Given the description of an element on the screen output the (x, y) to click on. 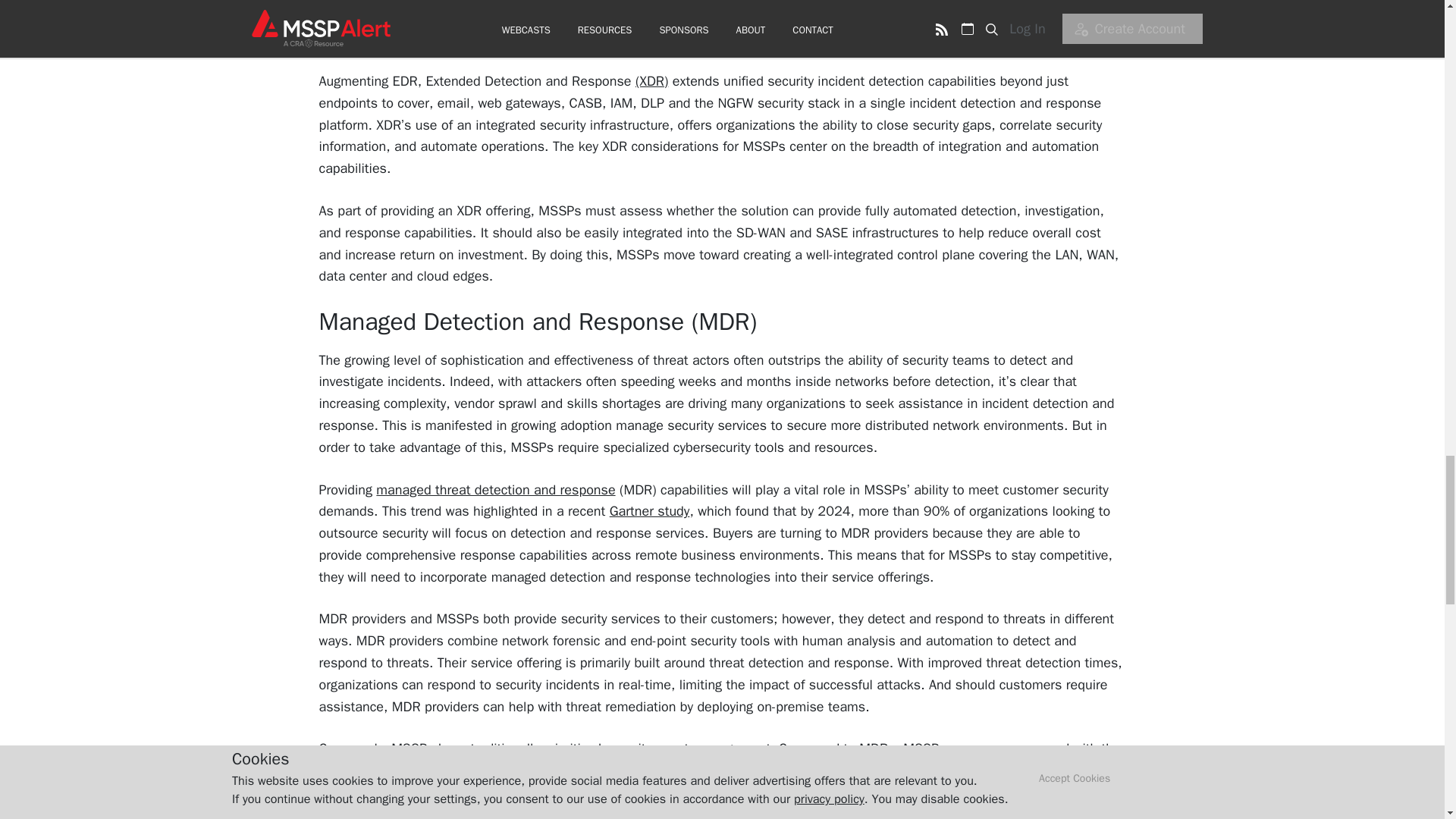
Gartner study (650, 510)
network access controls (861, 770)
managed threat detection and response (494, 488)
